Given the description of an element on the screen output the (x, y) to click on. 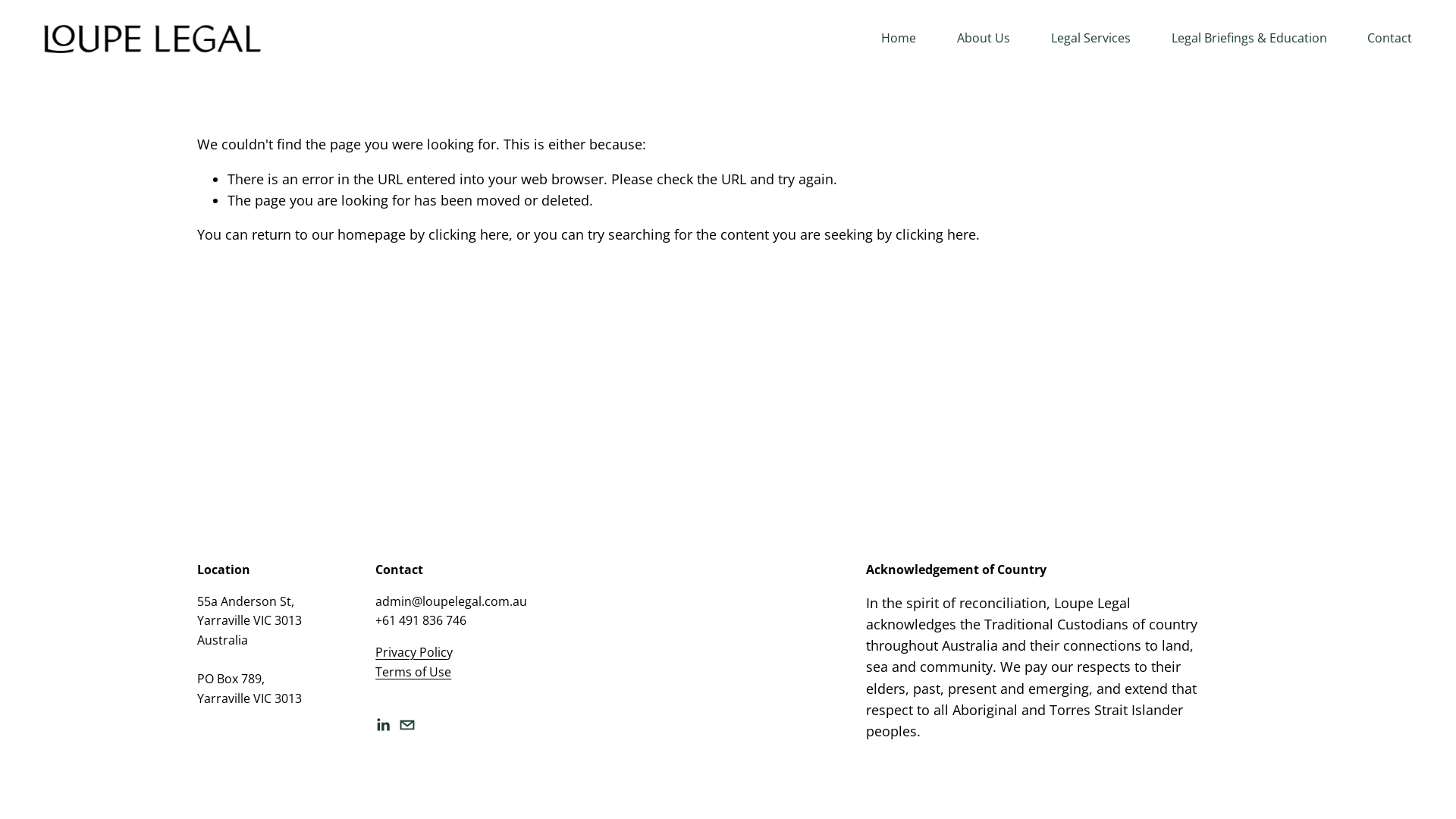
Privacy Polic Element type: text (410, 652)
clicking here Element type: text (468, 234)
Terms of Use Element type: text (413, 672)
About Us Element type: text (983, 39)
Home Element type: text (898, 39)
Contact Element type: text (1389, 39)
Legal Services Element type: text (1090, 39)
Legal Briefings & Education Element type: text (1249, 39)
clicking here Element type: text (935, 234)
